Given the description of an element on the screen output the (x, y) to click on. 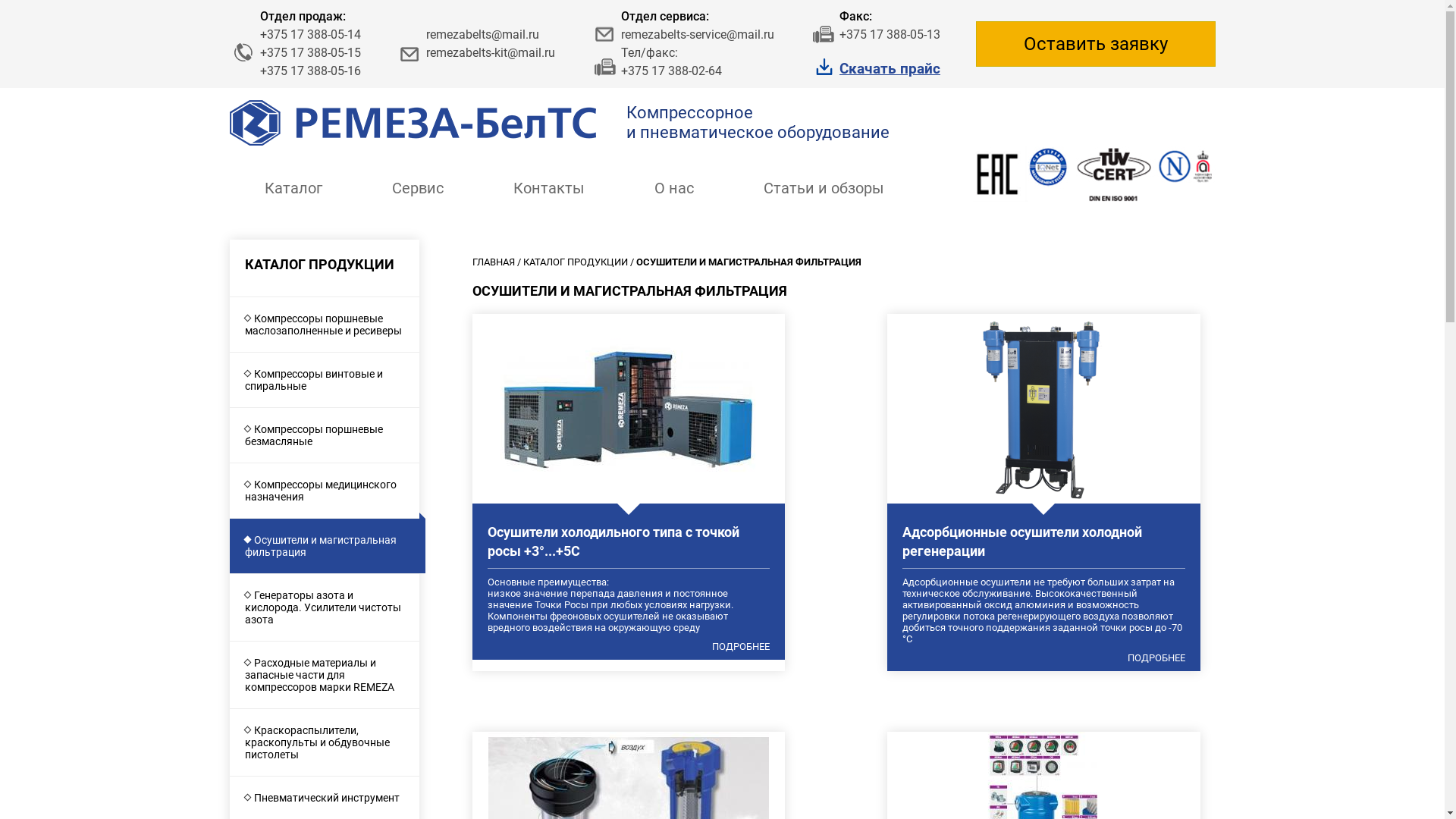
+375 17 388-05-15 Element type: text (309, 52)
remezabelts-kit@mail.ru Element type: text (490, 52)
+375 17 388-05-16 Element type: text (309, 70)
+375 17 388-02-64 Element type: text (670, 70)
+375 17 388-05-14 Element type: text (309, 34)
remezabelts@mail.ru Element type: text (482, 34)
remezabelts-service@mail.ru Element type: text (696, 34)
+375 17 388-05-13 Element type: text (889, 34)
